Given the description of an element on the screen output the (x, y) to click on. 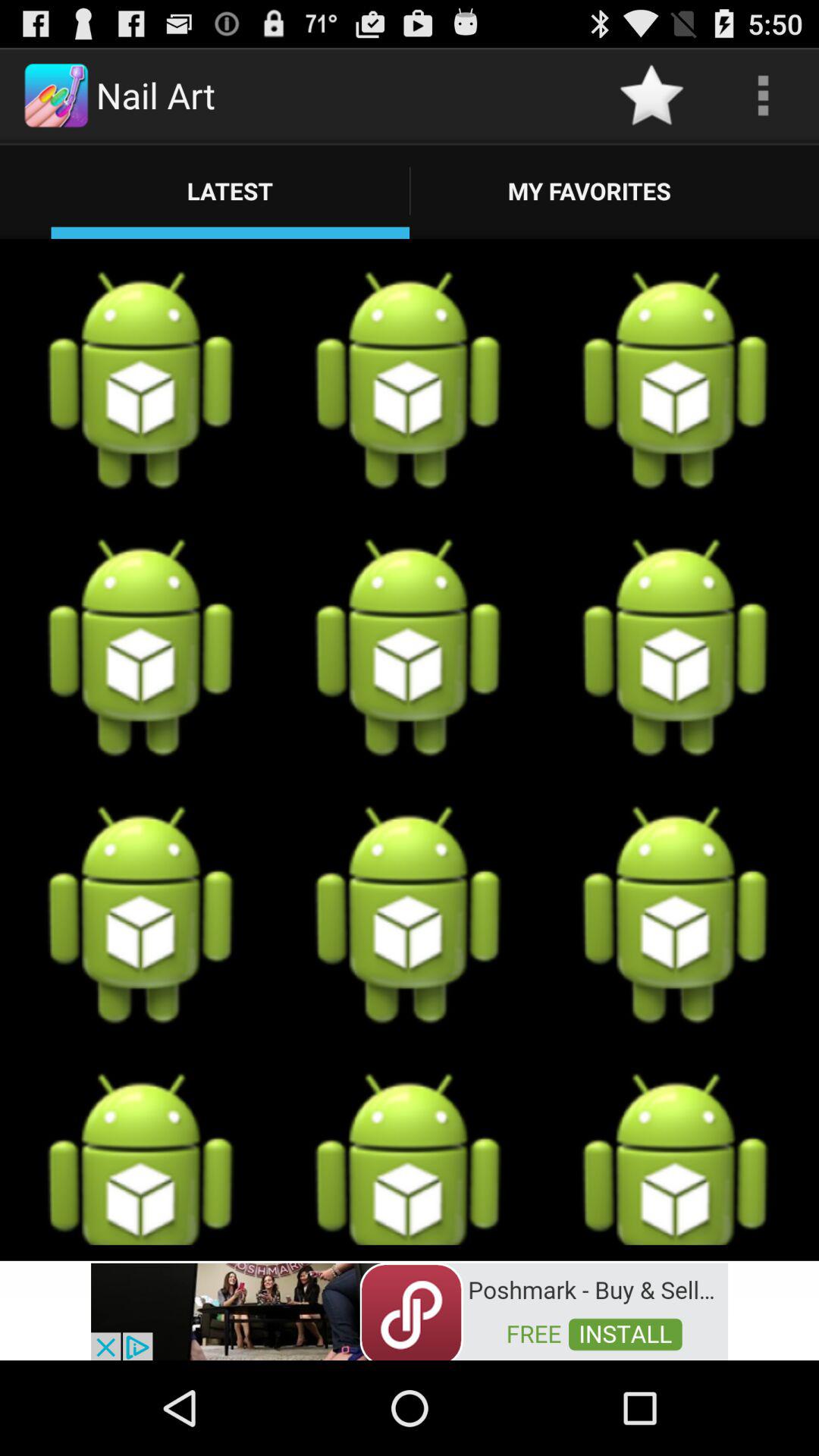
open options (763, 95)
